Given the description of an element on the screen output the (x, y) to click on. 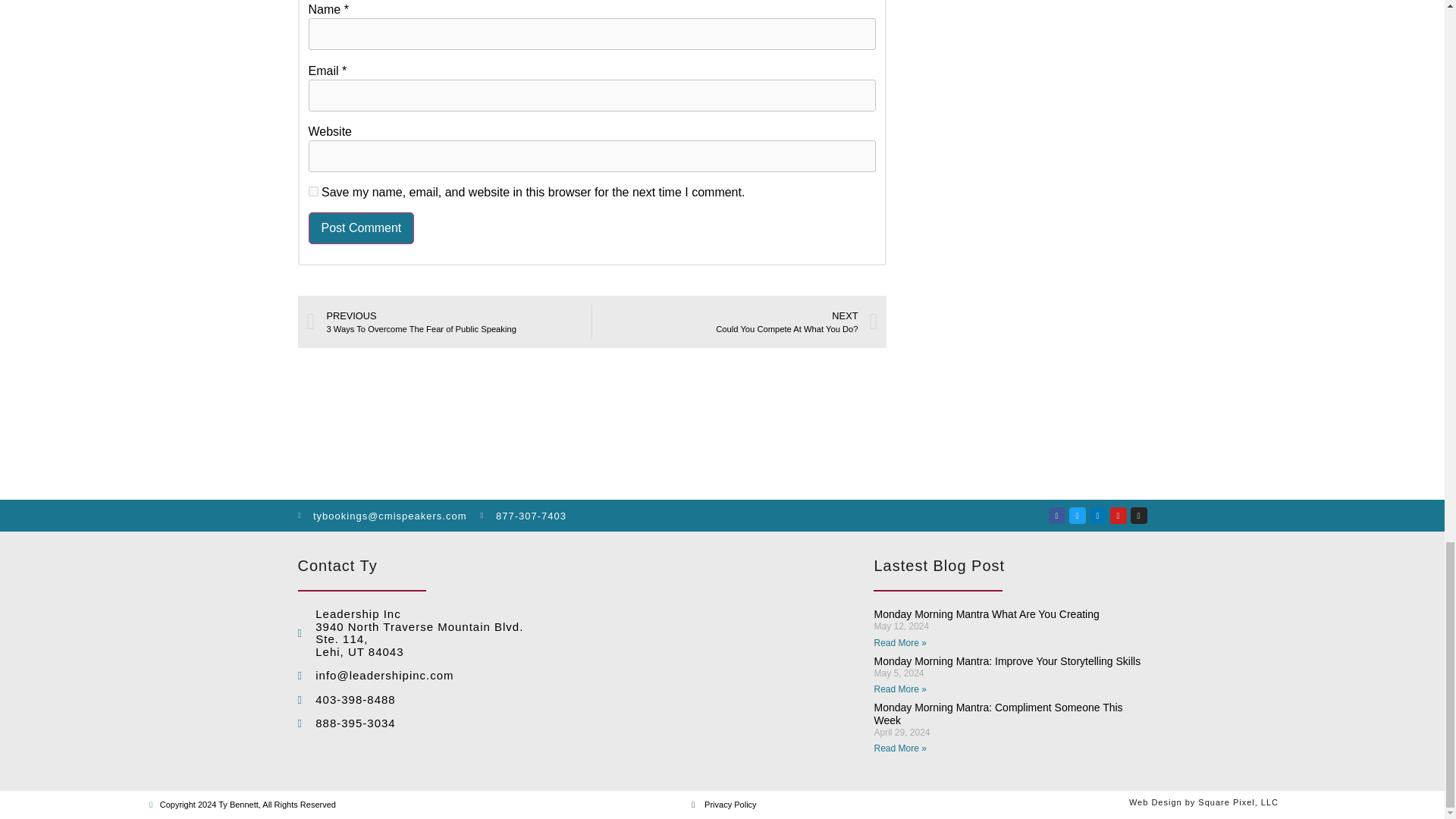
yes (312, 191)
Post Comment (360, 228)
